Given the description of an element on the screen output the (x, y) to click on. 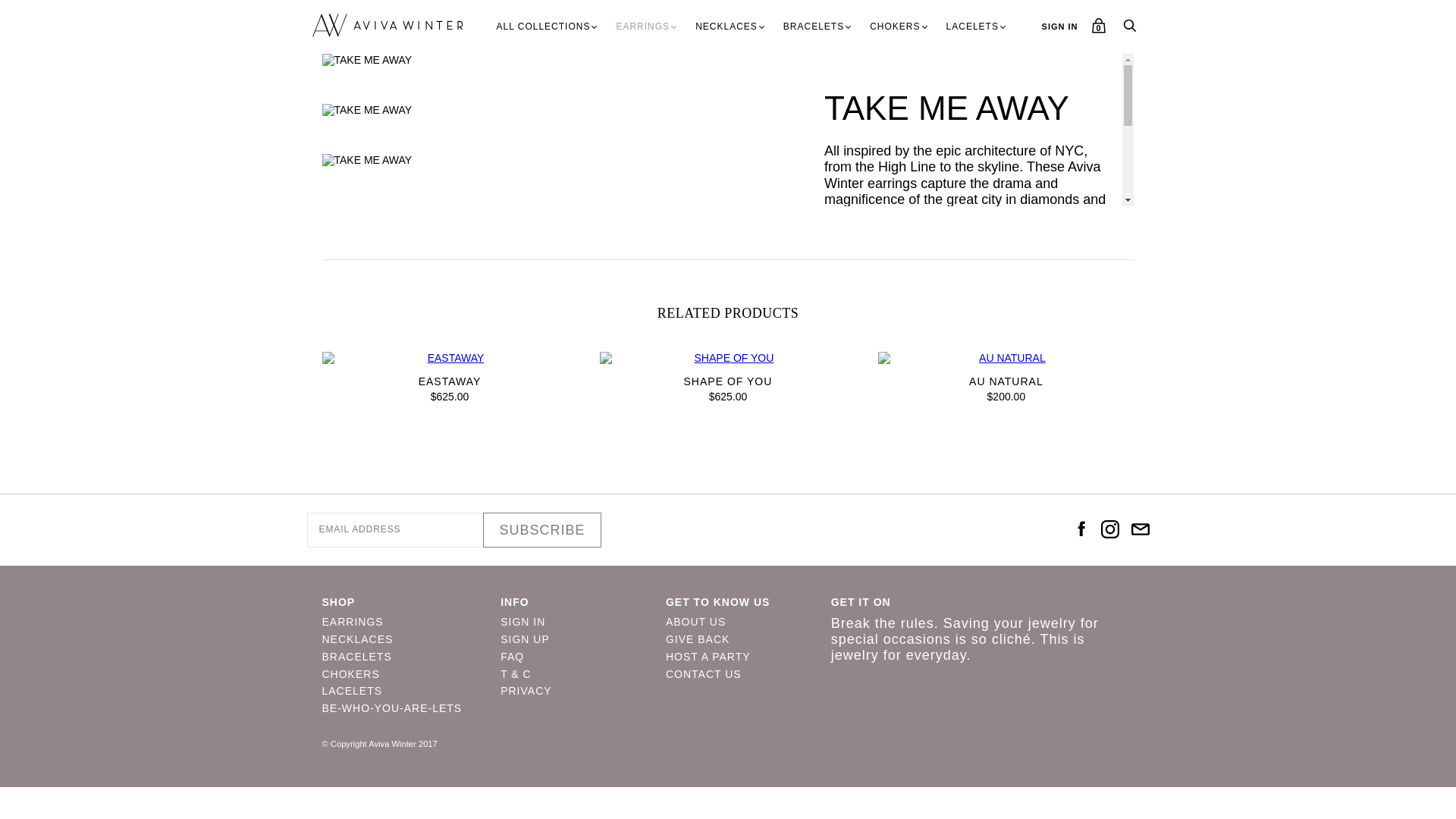
EARRINGS (642, 27)
Facebook (1079, 530)
0 (1097, 29)
ALL COLLECTIONS (542, 27)
NECKLACES (726, 27)
CHOKERS (894, 27)
BRACELETS (813, 27)
Subscribe (541, 529)
Instagram (1109, 530)
LACELETS (972, 27)
